Given the description of an element on the screen output the (x, y) to click on. 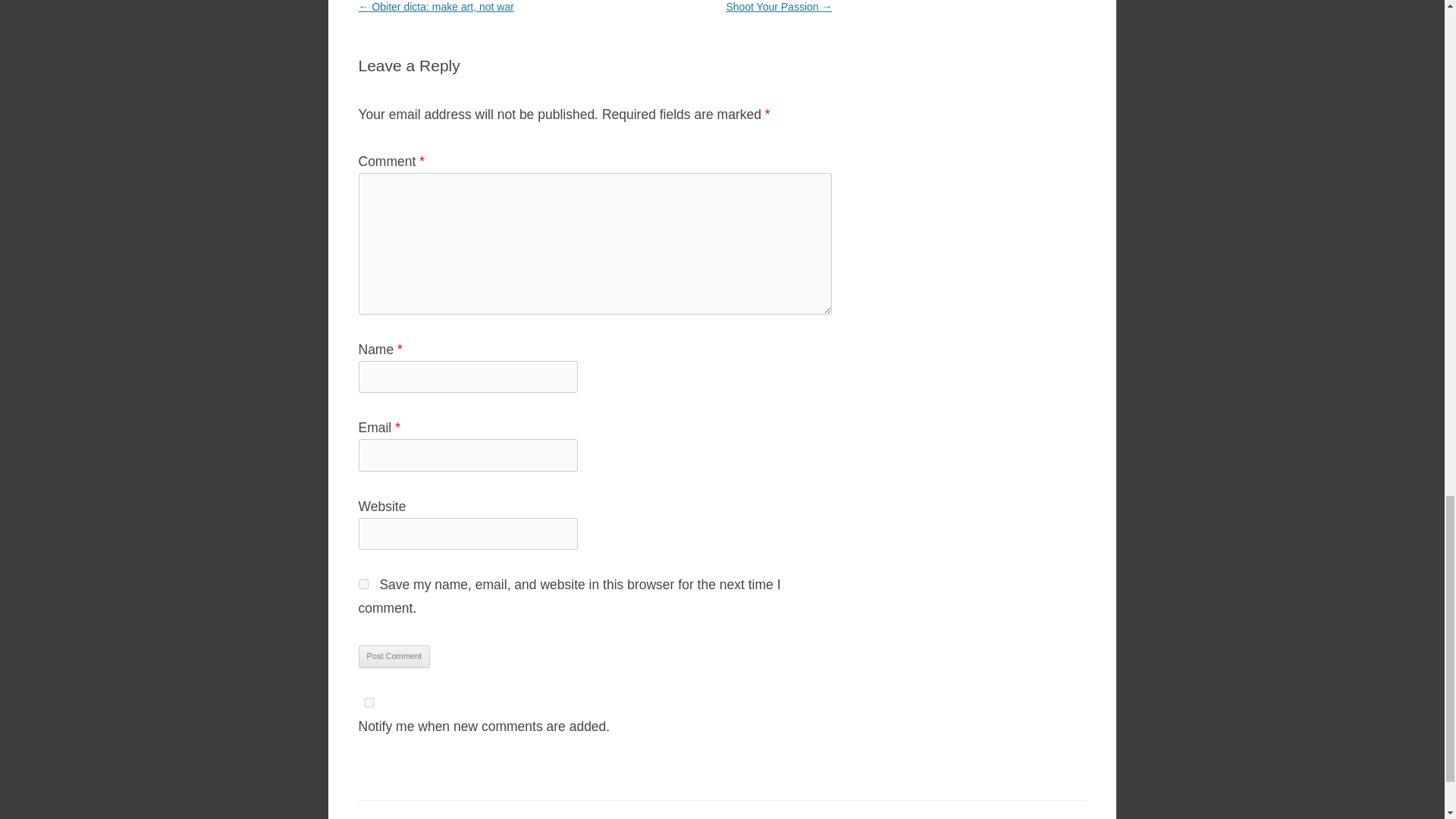
Post Comment (393, 656)
1 (368, 702)
Post Comment (393, 656)
yes (363, 583)
